Given the description of an element on the screen output the (x, y) to click on. 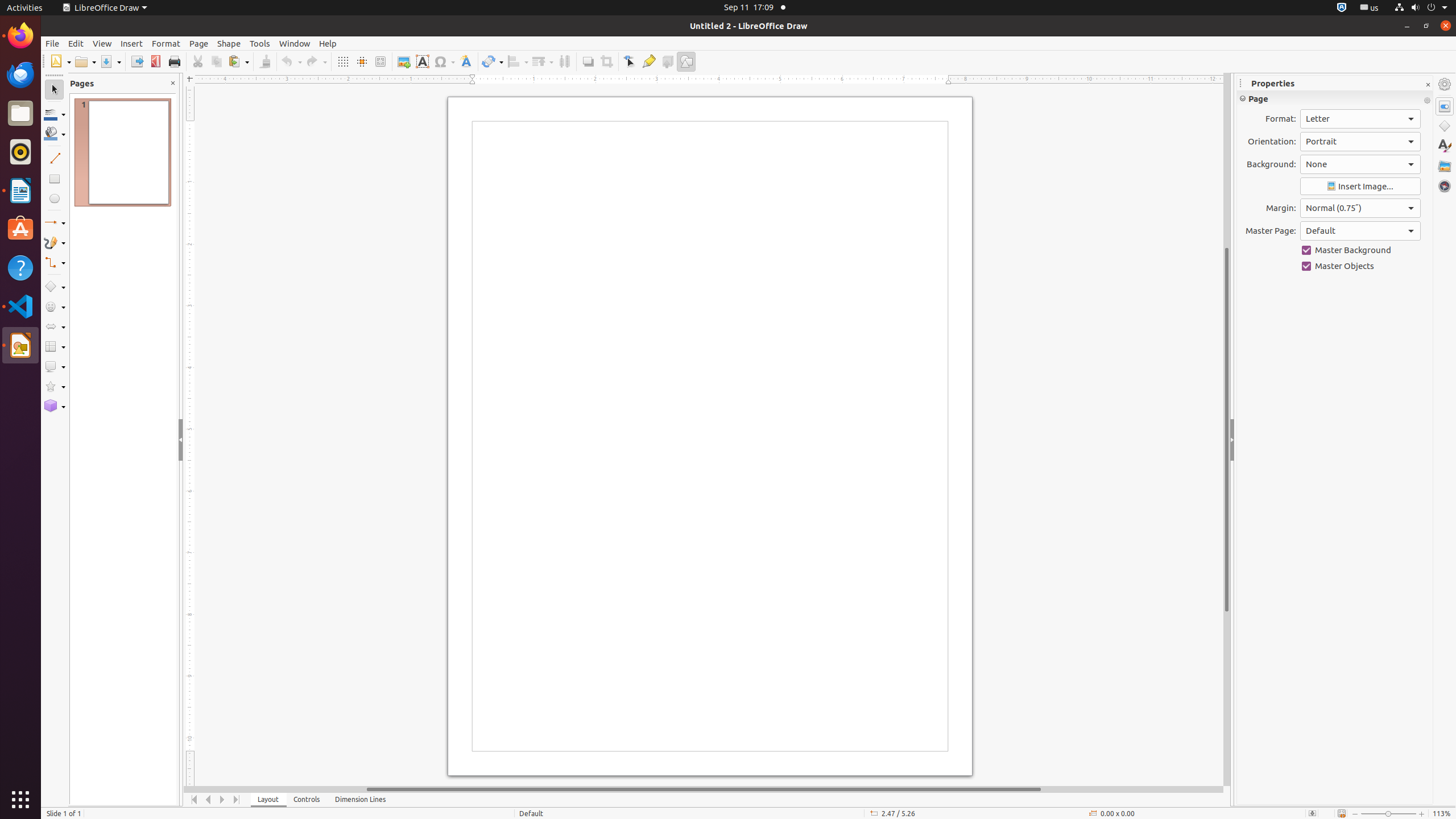
Lines and Arrows Element type: push-button (54, 222)
Copy Element type: push-button (216, 61)
Helplines While Moving Element type: toggle-button (361, 61)
Move Left Element type: push-button (208, 799)
Callout Shapes Element type: push-button (54, 366)
